Given the description of an element on the screen output the (x, y) to click on. 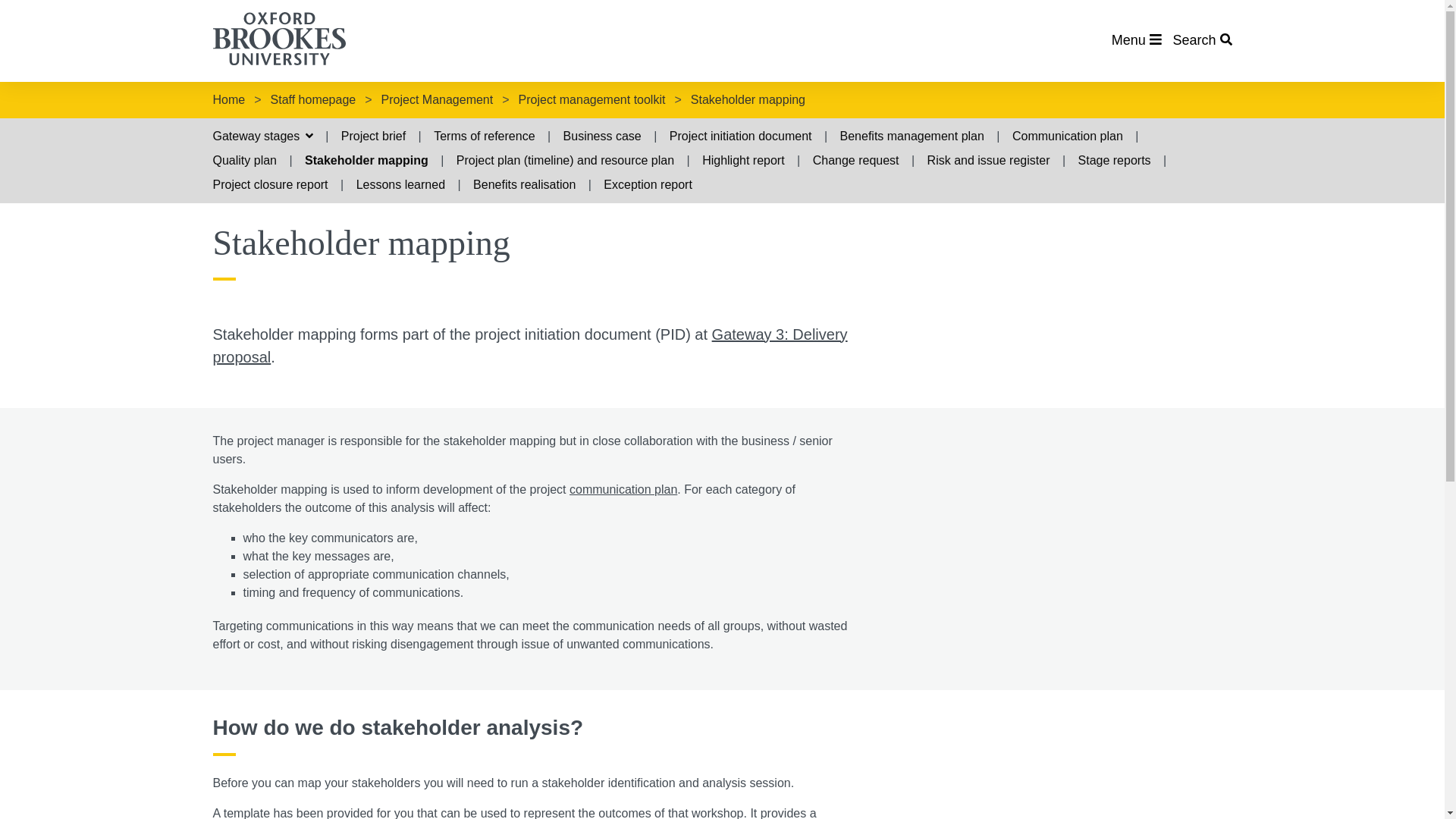
Search (1201, 39)
Menu (1136, 39)
